Given the description of an element on the screen output the (x, y) to click on. 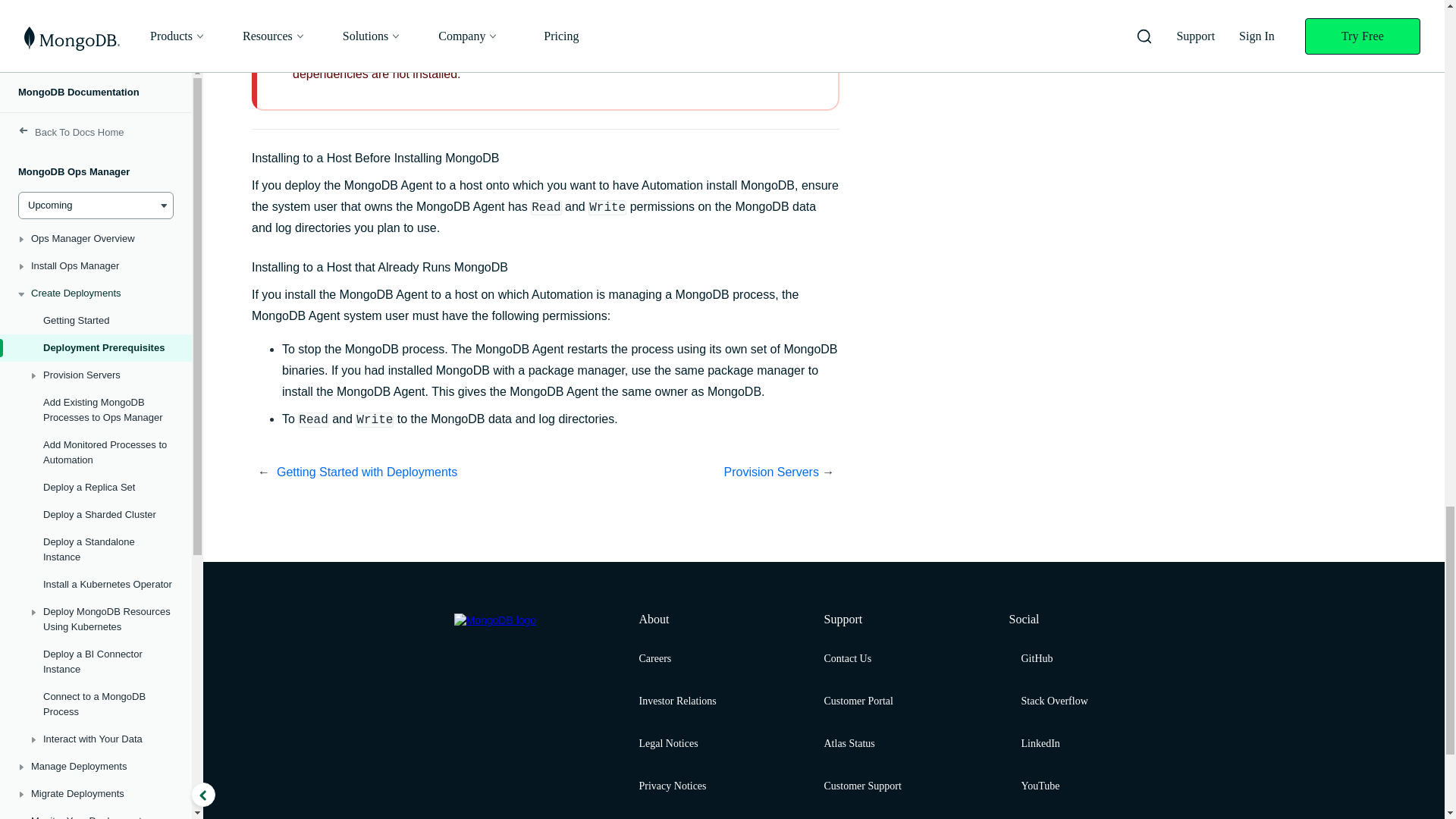
Next Section (682, 472)
Previous Section (411, 472)
